Given the description of an element on the screen output the (x, y) to click on. 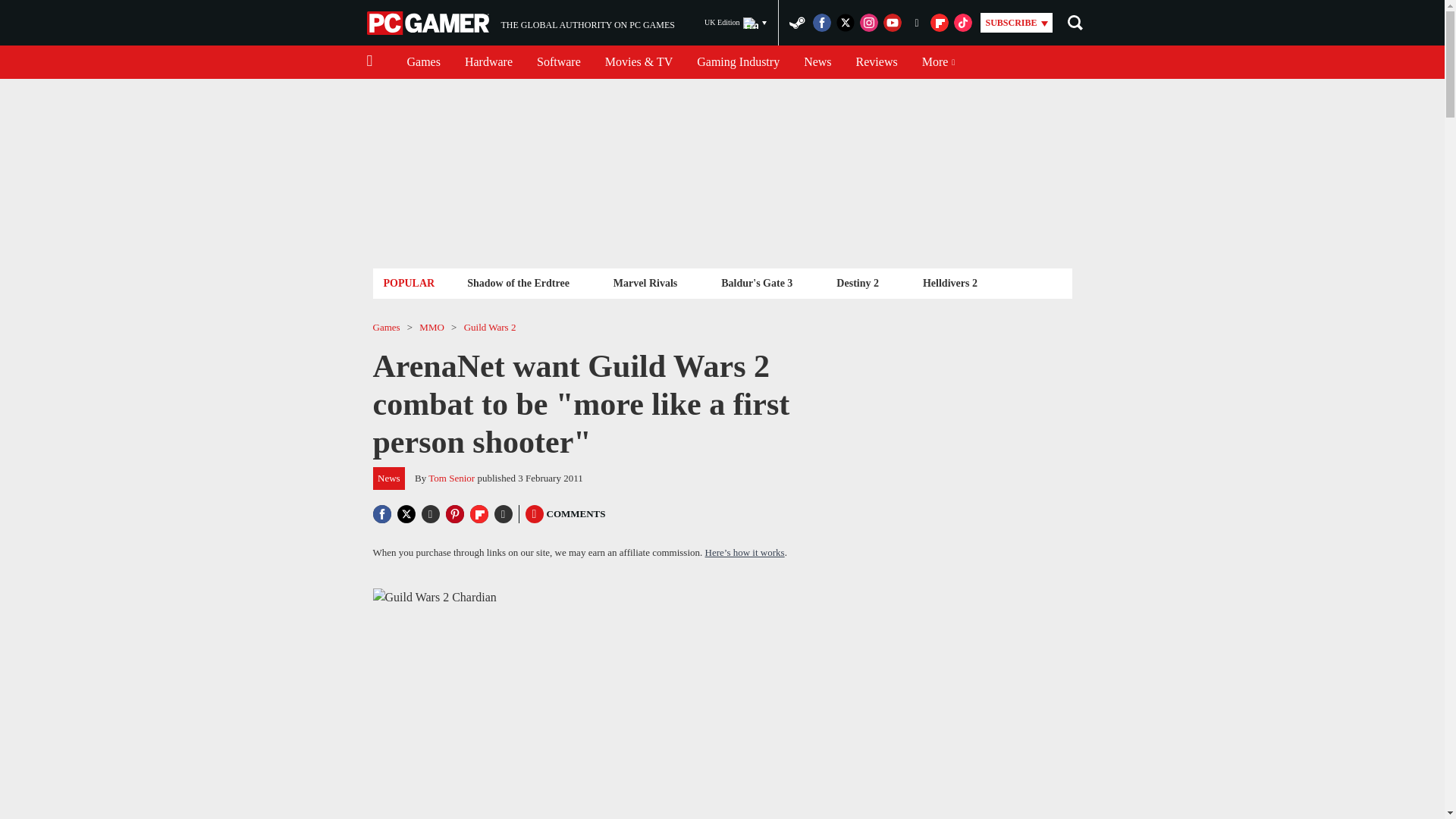
News (817, 61)
UK Edition (735, 22)
Reviews (877, 61)
Gaming Industry (738, 61)
Marvel Rivals (645, 282)
Hardware (520, 22)
Software (488, 61)
PC Gamer (558, 61)
Games (429, 22)
Shadow of the Erdtree (422, 61)
